Given the description of an element on the screen output the (x, y) to click on. 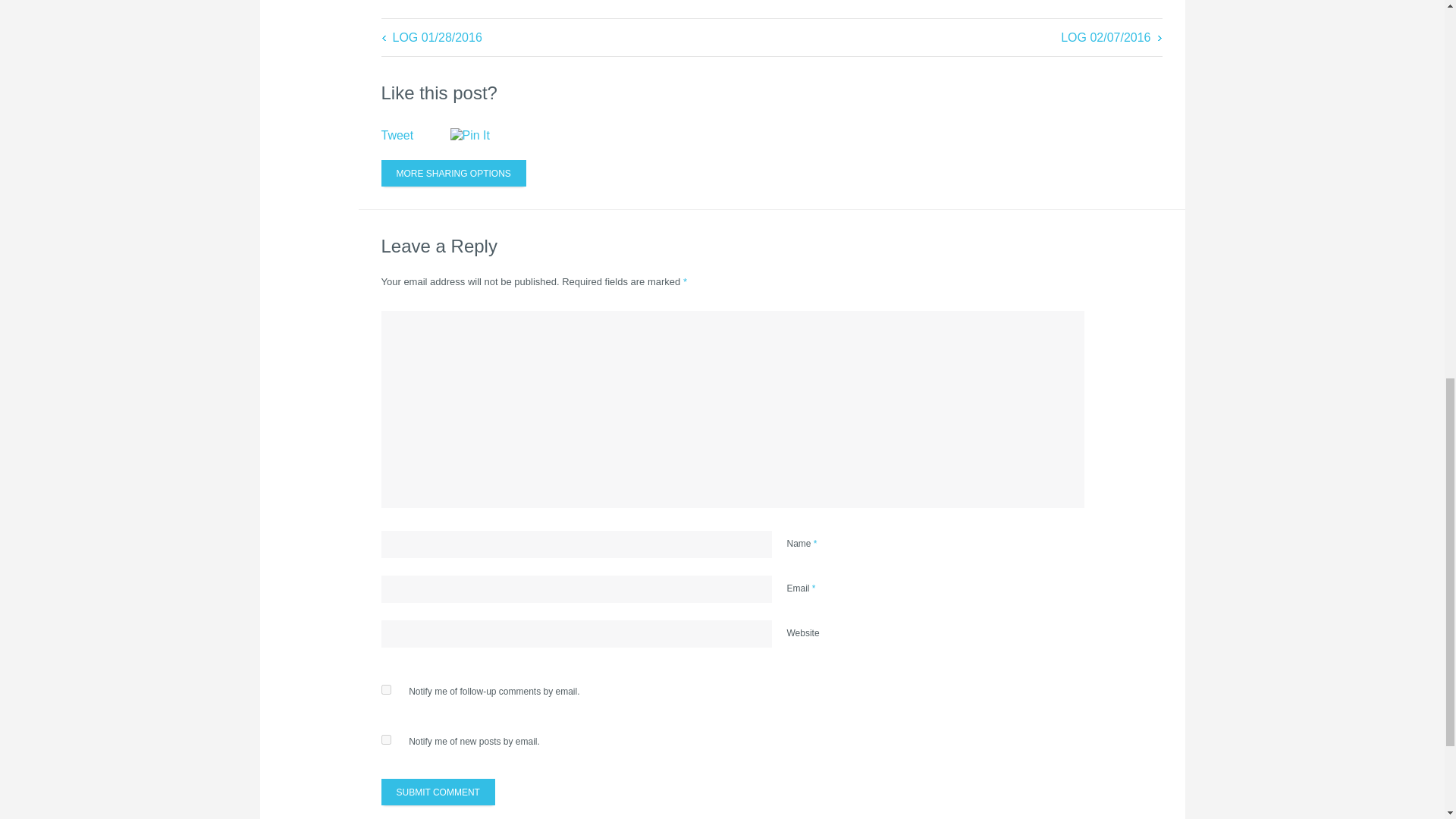
subscribe (385, 739)
MORE SHARING OPTIONS (452, 172)
subscribe (385, 689)
Pin It (484, 134)
Submit Comment (437, 791)
Submit Comment (437, 791)
Tweet (396, 134)
